Given the description of an element on the screen output the (x, y) to click on. 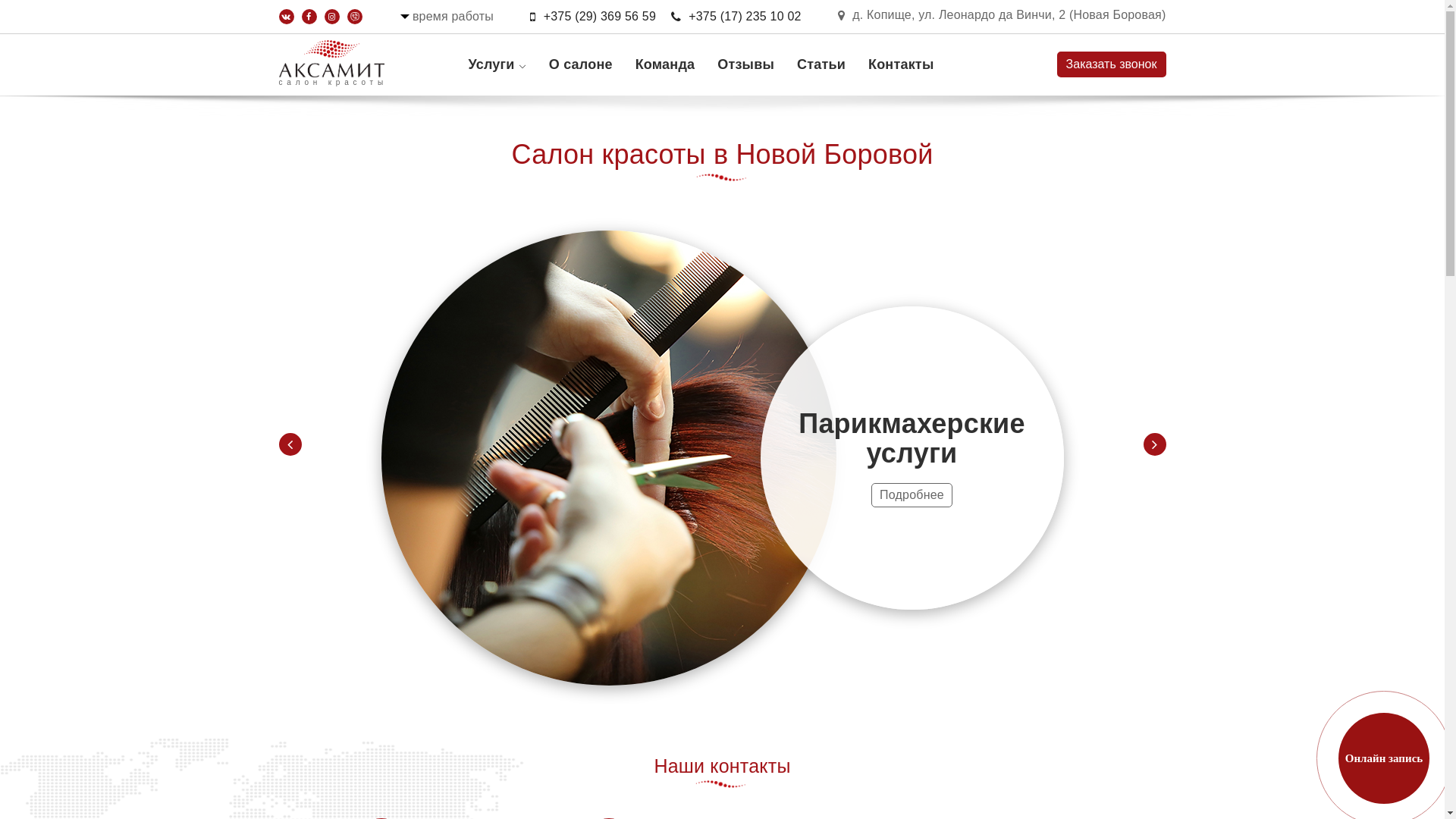
+375 (29) 369 56 59 Element type: text (592, 16)
+375 (17) 235 10 02 Element type: text (736, 16)
